Given the description of an element on the screen output the (x, y) to click on. 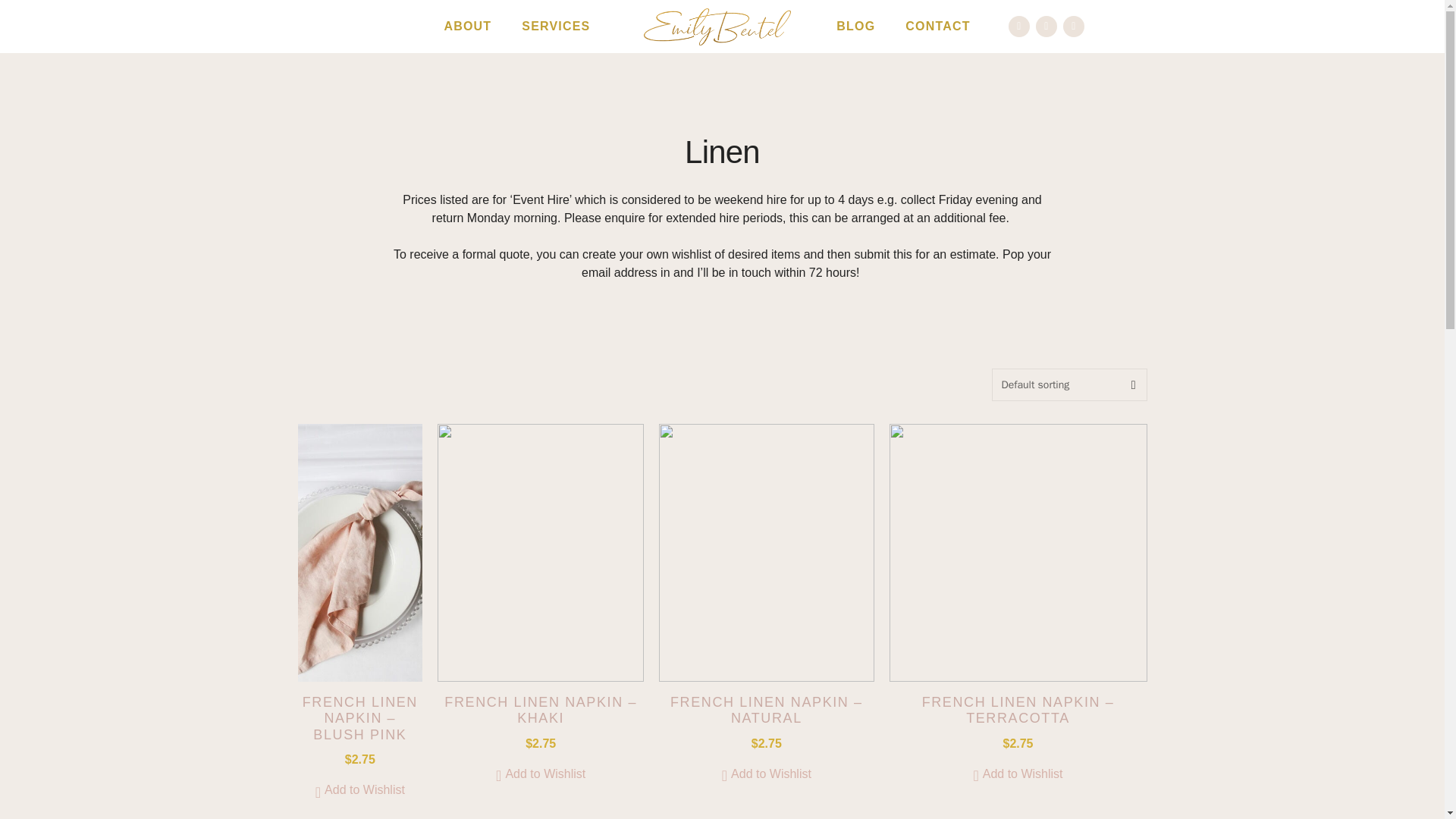
CONTACT (937, 26)
Add to Wishlist (766, 773)
Add to Wishlist (540, 773)
ABOUT (467, 26)
Add to Wishlist (1017, 773)
Add to Wishlist (359, 790)
SERVICES (559, 26)
BLOG (855, 26)
